Given the description of an element on the screen output the (x, y) to click on. 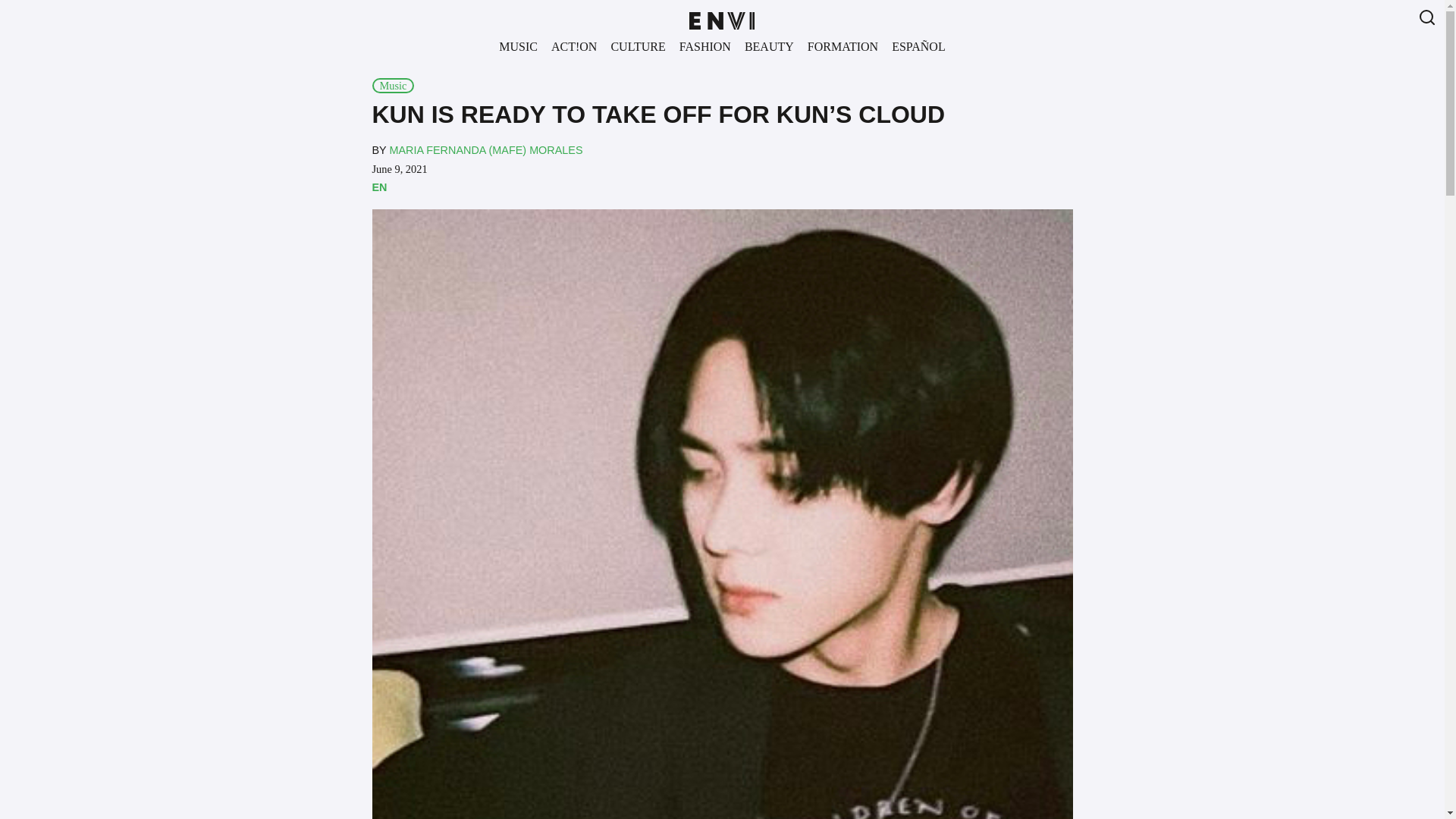
BEAUTY (768, 46)
MUSIC (518, 46)
FASHION (704, 46)
Music (392, 85)
CULTURE (637, 46)
FORMATION (842, 46)
ACT!ON (573, 46)
